Given the description of an element on the screen output the (x, y) to click on. 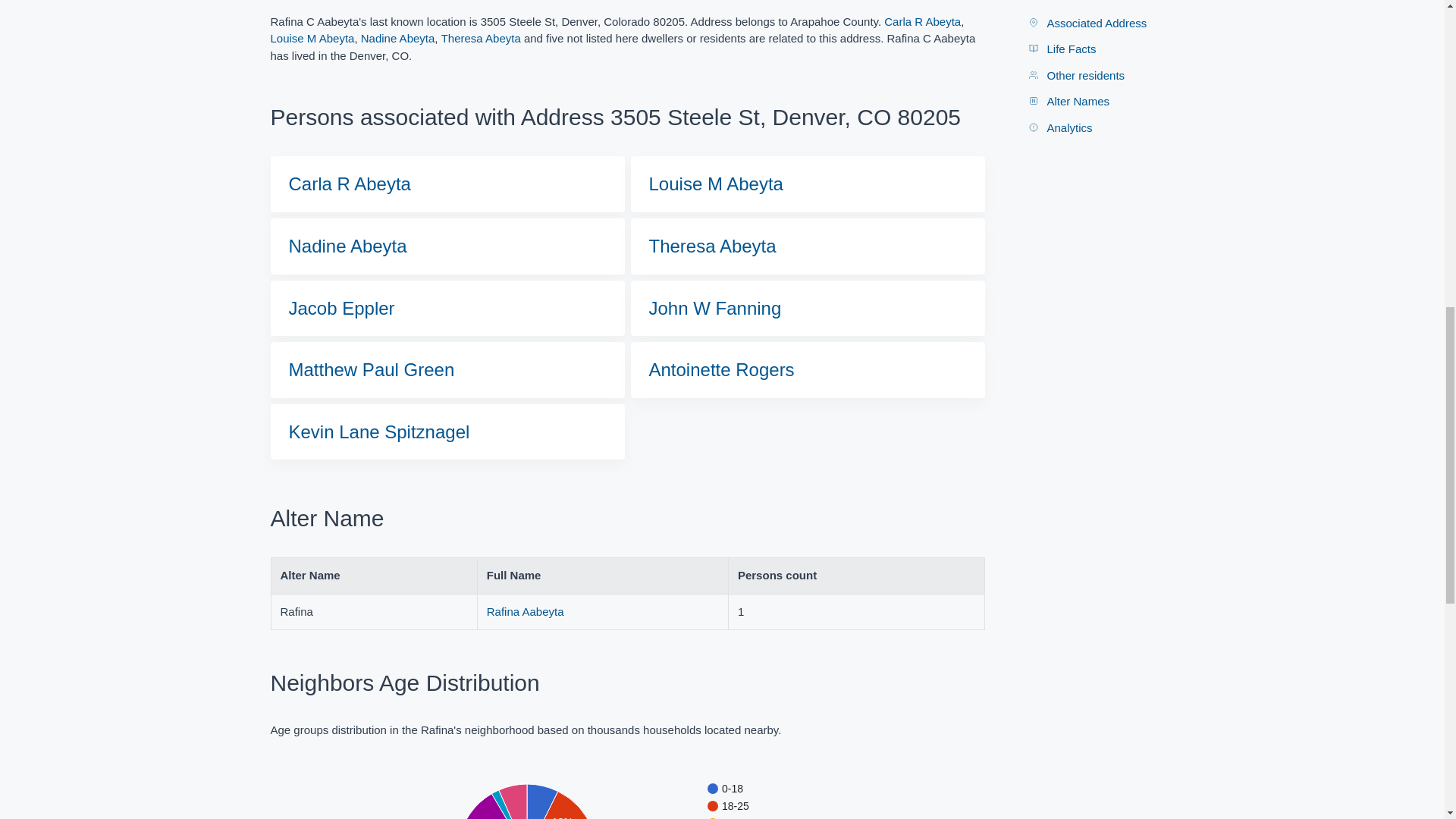
Matthew Paul Green (371, 369)
Theresa Abeyta (481, 38)
John W Fanning (715, 308)
Carla R Abeyta (349, 183)
Jacob Eppler (341, 308)
Kevin Lane Spitznagel (378, 431)
Rafina Aabeyta (525, 611)
Theresa Abeyta (712, 245)
Carla R Abeyta (921, 22)
Nadine Abeyta (398, 38)
Louise M Abeyta (716, 183)
Nadine Abeyta (347, 245)
Louise M Abeyta (311, 38)
Antoinette Rogers (721, 369)
